Given the description of an element on the screen output the (x, y) to click on. 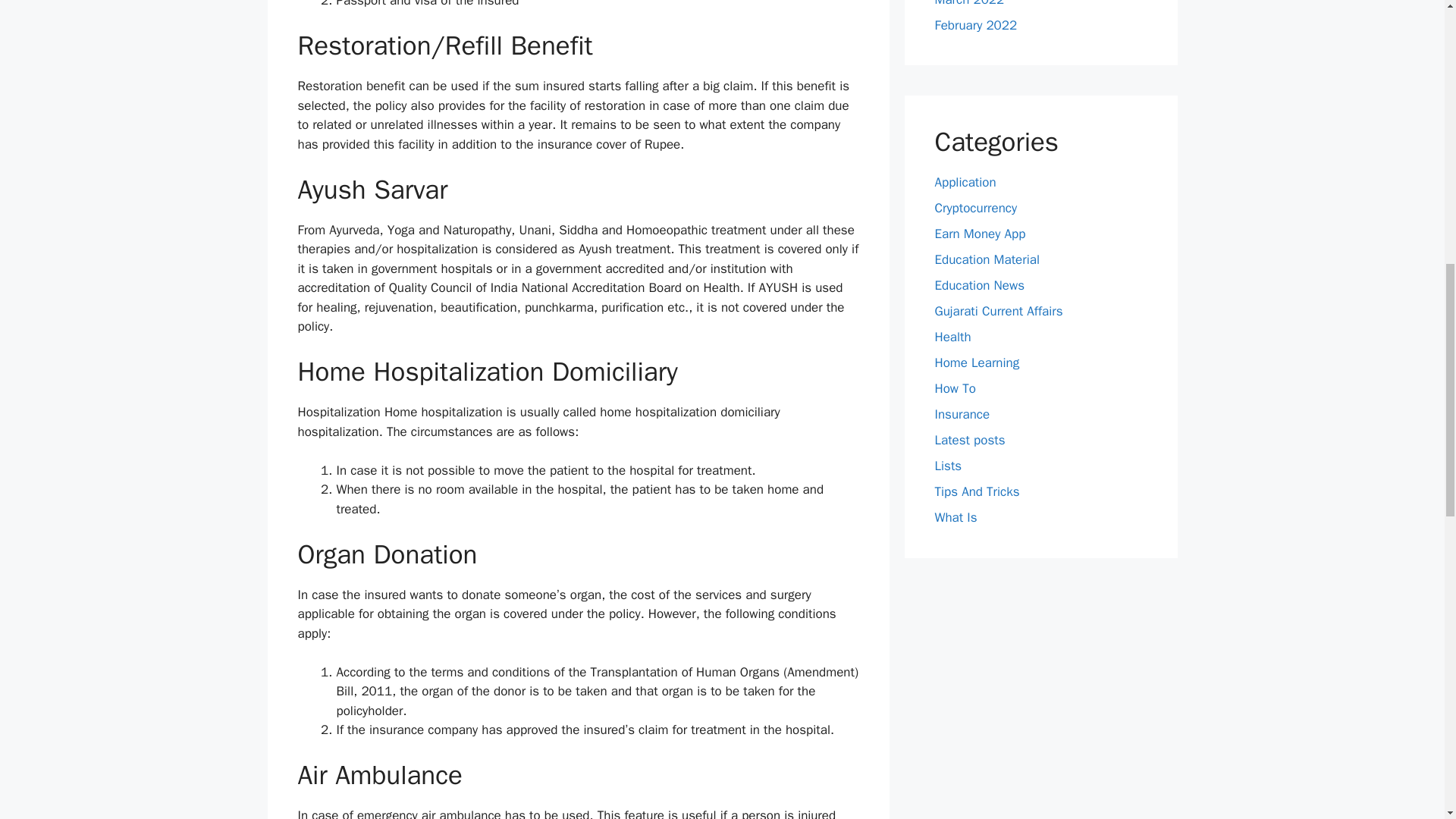
Insurance (962, 414)
Latest posts (969, 439)
Tips And Tricks (976, 491)
Gujarati Current Affairs (998, 311)
Education News (979, 285)
Education Material (986, 259)
Health (952, 336)
Cryptocurrency (975, 207)
How To (954, 388)
March 2022 (969, 3)
